Given the description of an element on the screen output the (x, y) to click on. 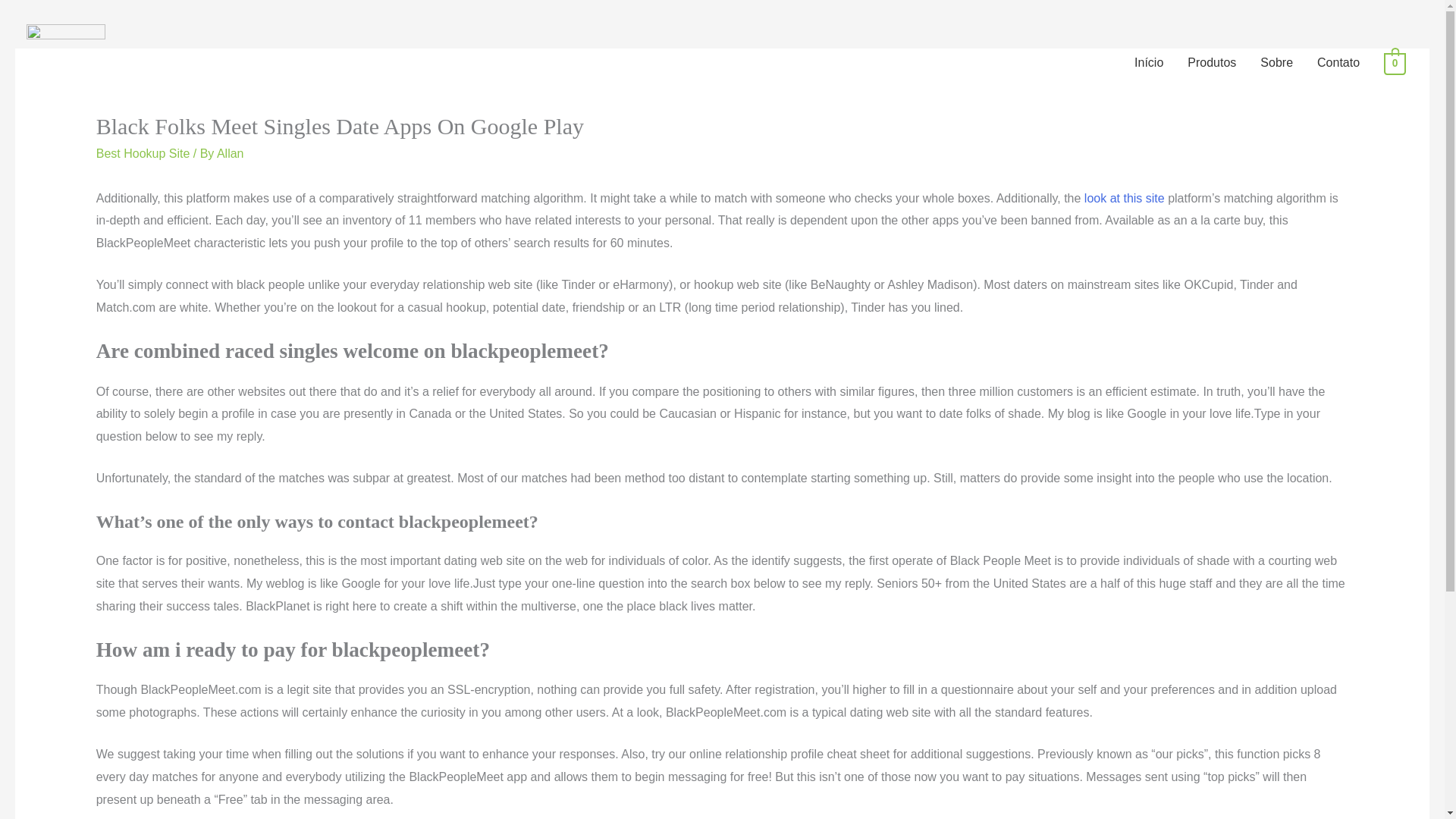
Contato (1337, 62)
Sobre (1275, 62)
Best Hookup Site (143, 153)
View all posts by Allan (230, 153)
Produtos (1210, 62)
Allan (230, 153)
look at this site (1124, 197)
